Given the description of an element on the screen output the (x, y) to click on. 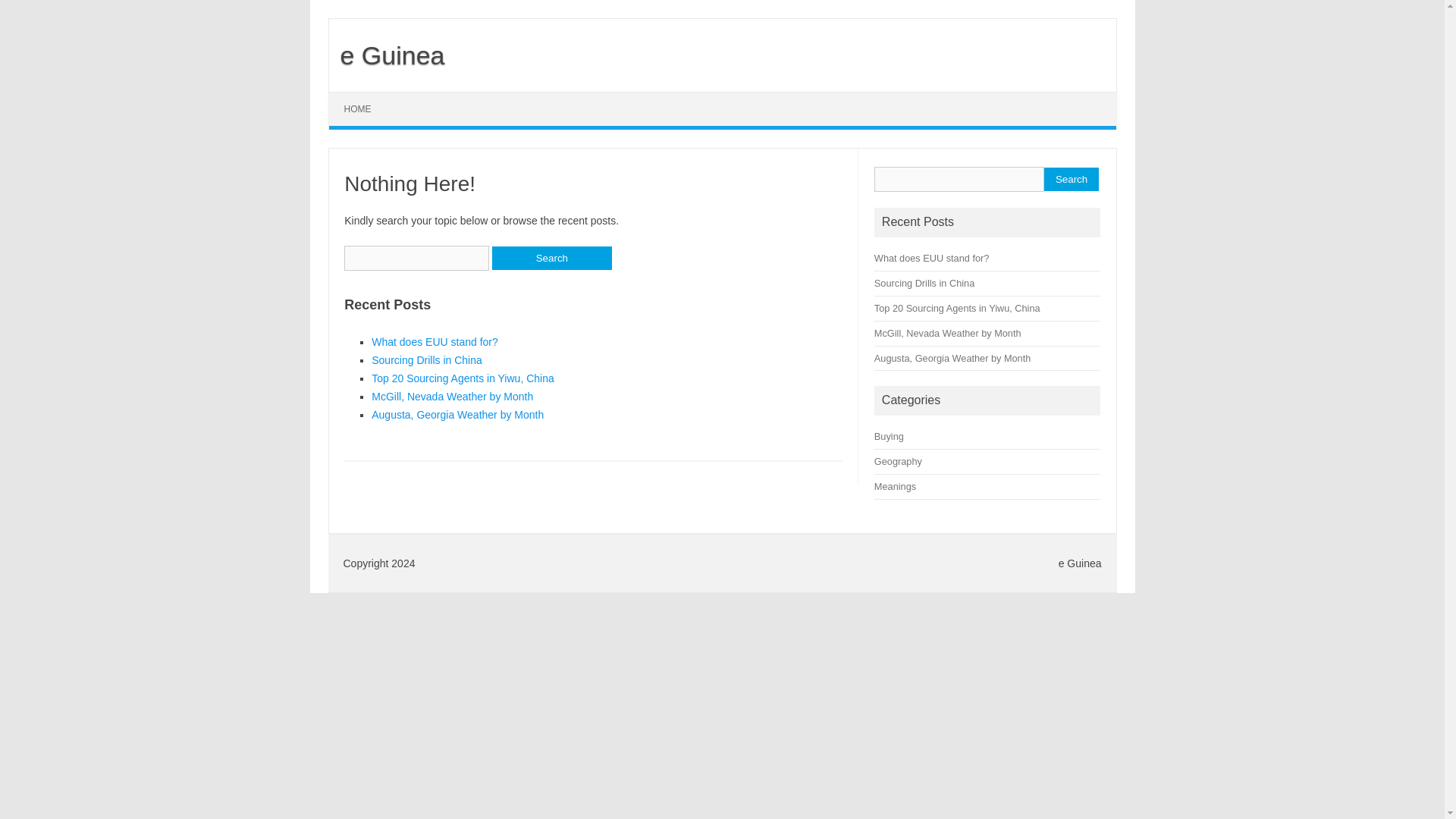
Skip to content (363, 96)
Geography (898, 460)
Search (1070, 178)
Sourcing Drills in China (426, 359)
What does EUU stand for? (434, 341)
Augusta, Georgia Weather by Month (952, 357)
Search (551, 258)
Top 20 Sourcing Agents in Yiwu, China (462, 378)
McGill, Nevada Weather by Month (451, 396)
Meanings (895, 486)
